Given the description of an element on the screen output the (x, y) to click on. 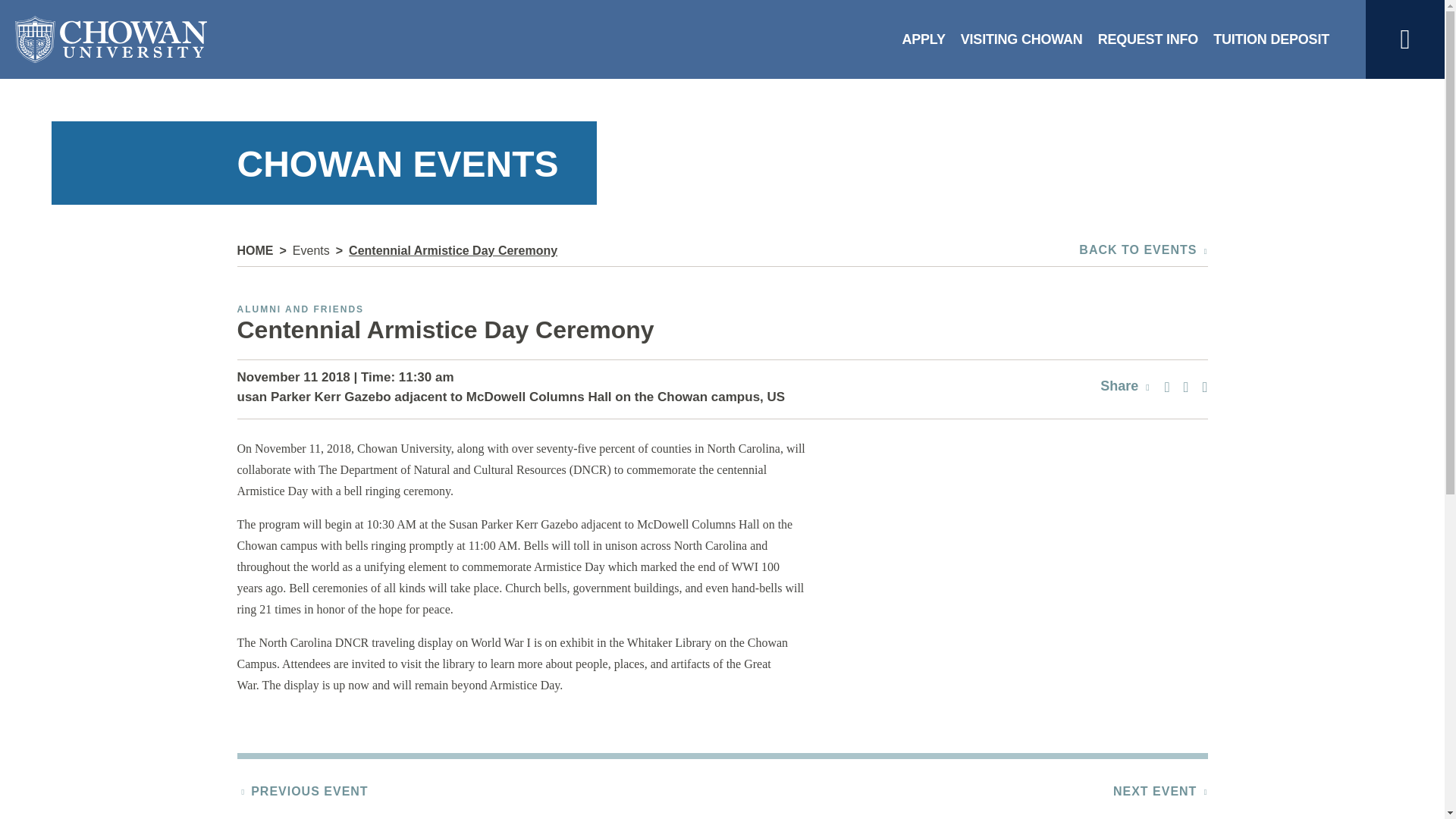
BACK TO EVENTS (1142, 250)
TUITION DEPOSIT (1270, 39)
NEXT EVENT (1154, 790)
APPLY (922, 39)
Events (311, 250)
Apply (922, 39)
REQUEST INFO (1148, 39)
Request Info (1148, 39)
ALUMNI AND FRIENDS (299, 308)
HOME (254, 250)
